Given the description of an element on the screen output the (x, y) to click on. 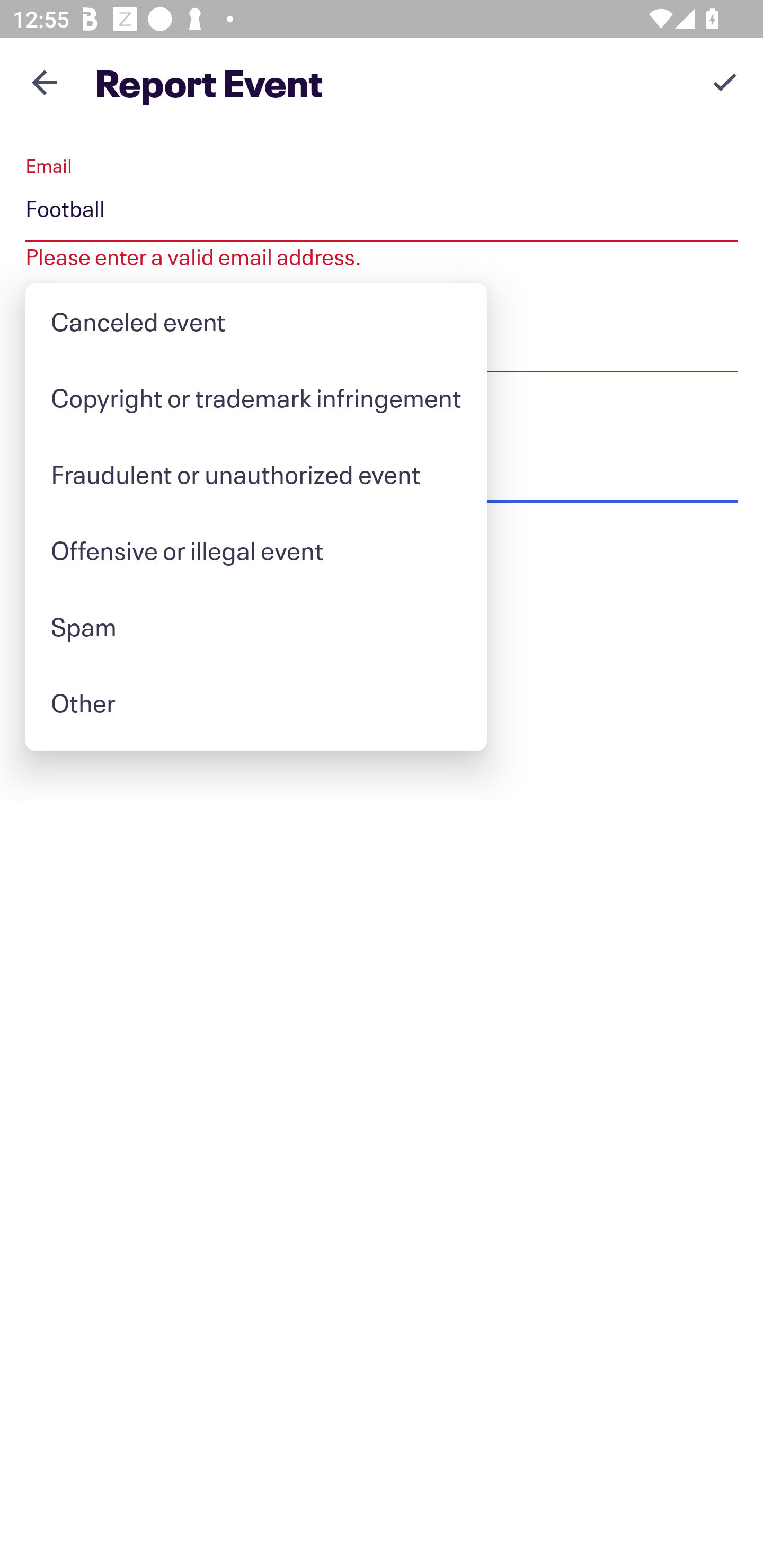
Canceled event (255, 321)
Copyright or trademark infringement (255, 397)
Fraudulent or unauthorized event (255, 473)
Offensive or illegal event (255, 550)
Spam (255, 626)
Other (255, 702)
